Given the description of an element on the screen output the (x, y) to click on. 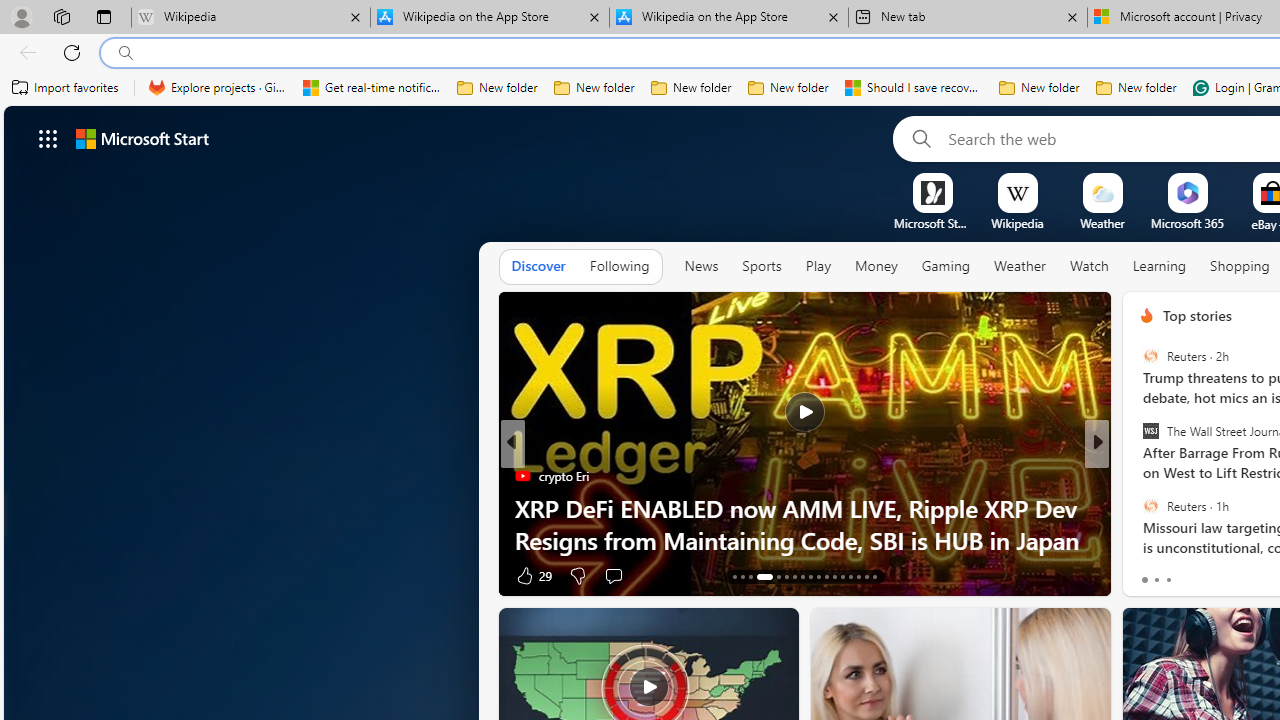
T3 (1138, 475)
AutomationID: tab-20 (801, 576)
Following (619, 267)
View comments 1 Comment (1229, 575)
20 Like (1149, 574)
GOBankingRates (1138, 475)
AutomationID: tab-22 (818, 576)
